Given the description of an element on the screen output the (x, y) to click on. 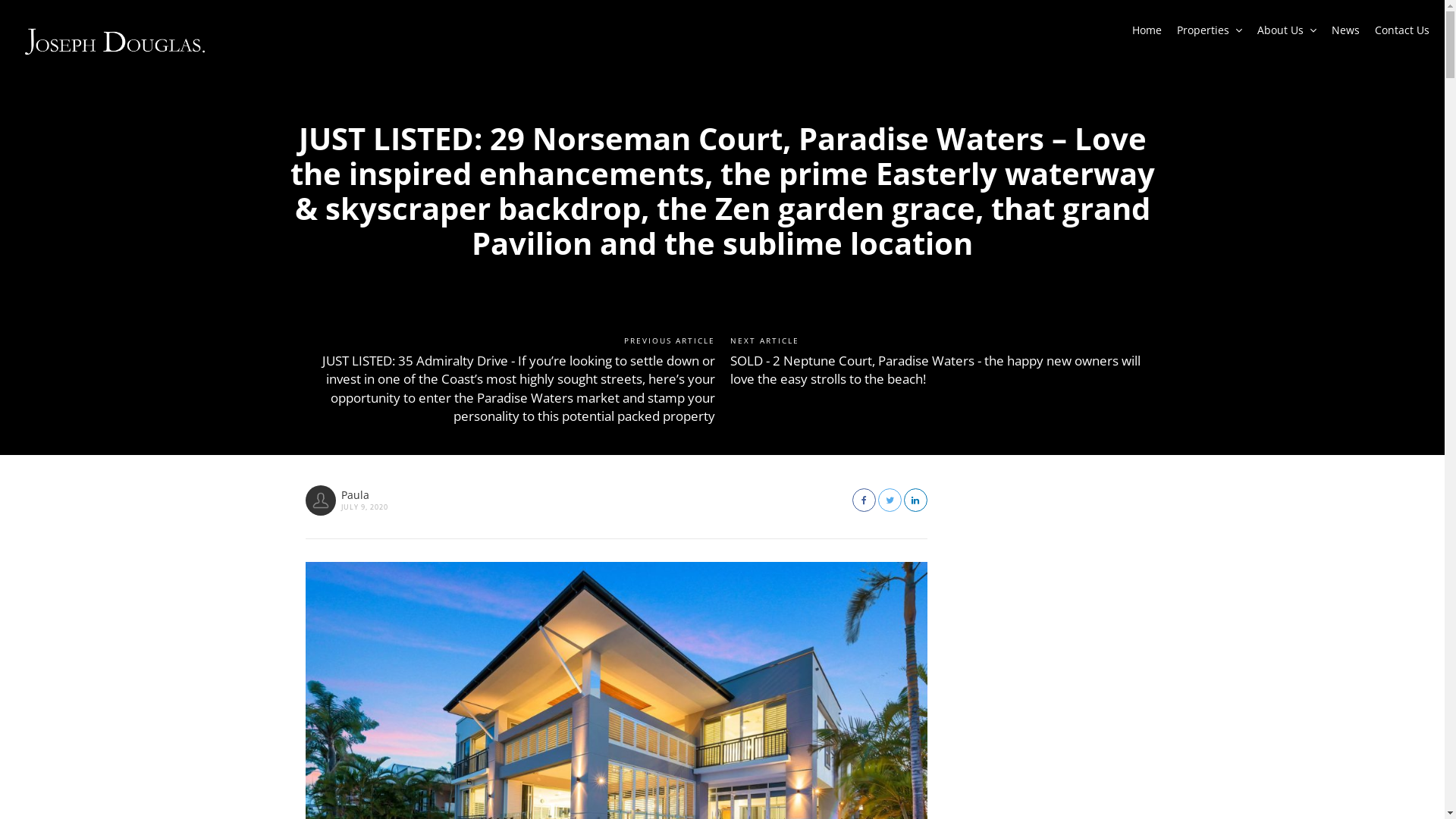
Share on LinkedIn Element type: hover (915, 499)
Share on Twitter Element type: hover (889, 499)
Home Element type: text (1146, 33)
Contact Us Element type: text (1401, 33)
Properties   Element type: text (1209, 33)
News Element type: text (1345, 33)
Share on Facebook Element type: hover (863, 499)
About Us   Element type: text (1286, 33)
